Given the description of an element on the screen output the (x, y) to click on. 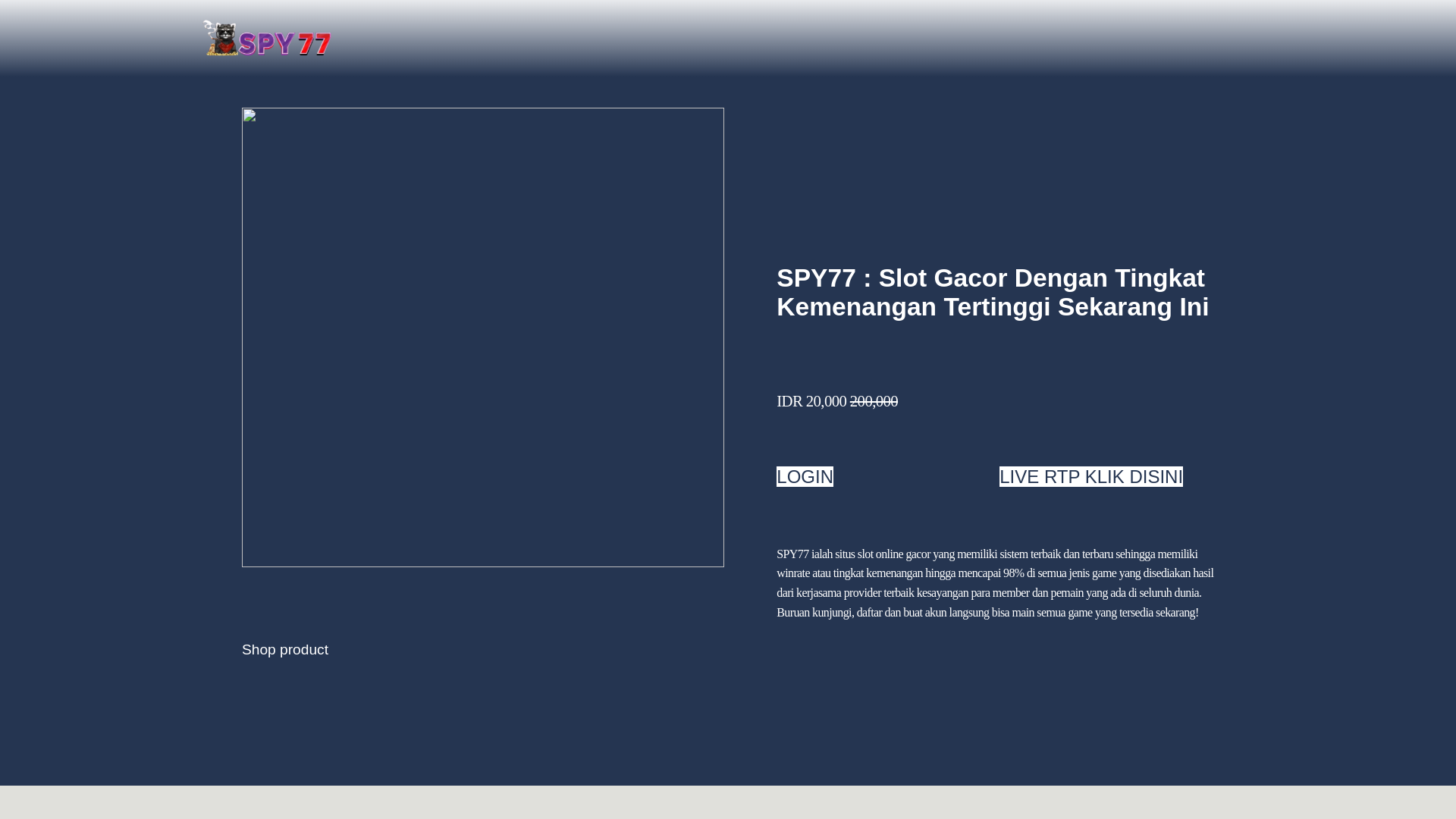
Shop product (285, 649)
LIVE RTP KLIK DISINI (1090, 476)
LOGIN (804, 476)
